Given the description of an element on the screen output the (x, y) to click on. 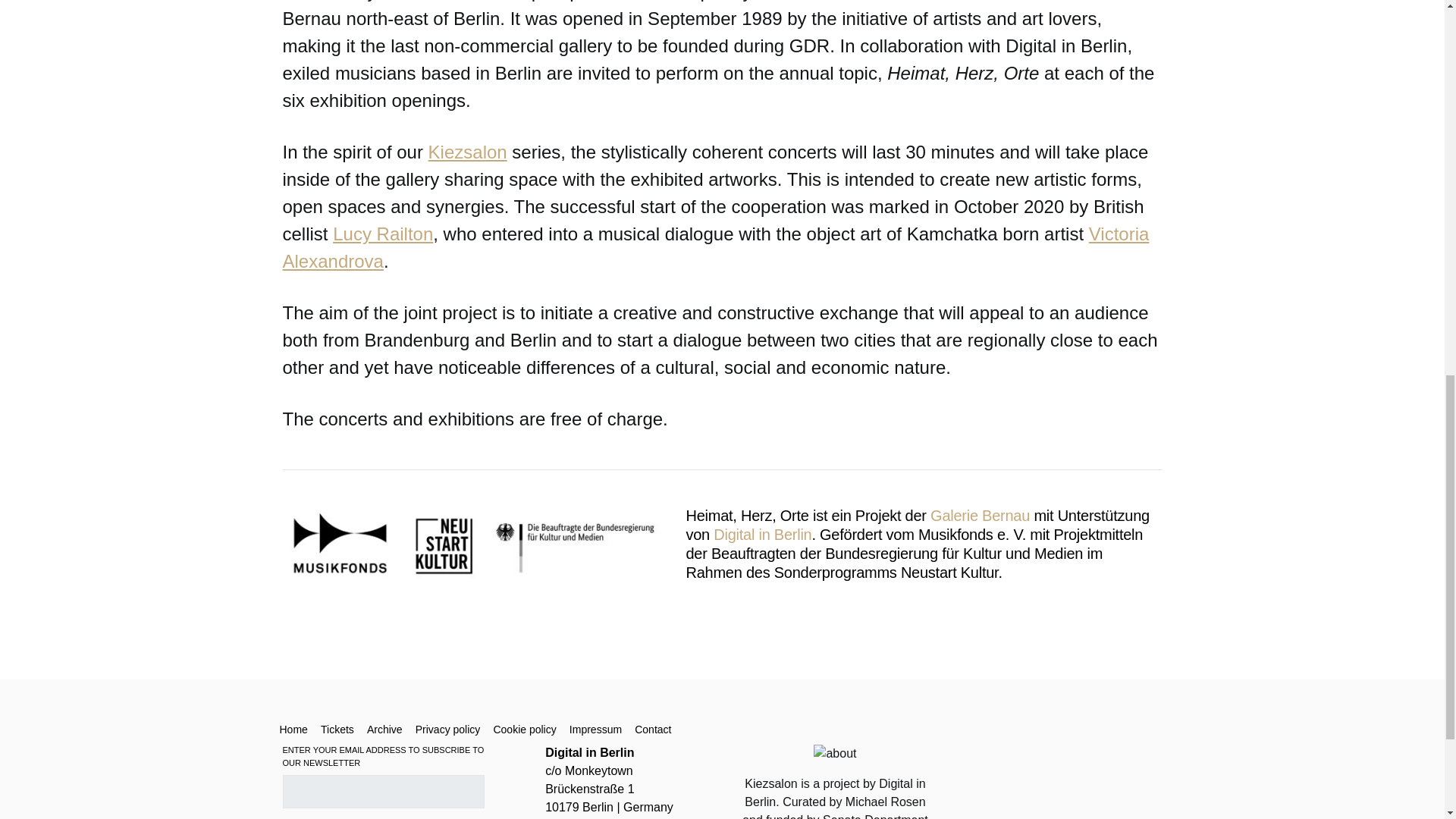
Please enter a valid email address (382, 791)
